Given the description of an element on the screen output the (x, y) to click on. 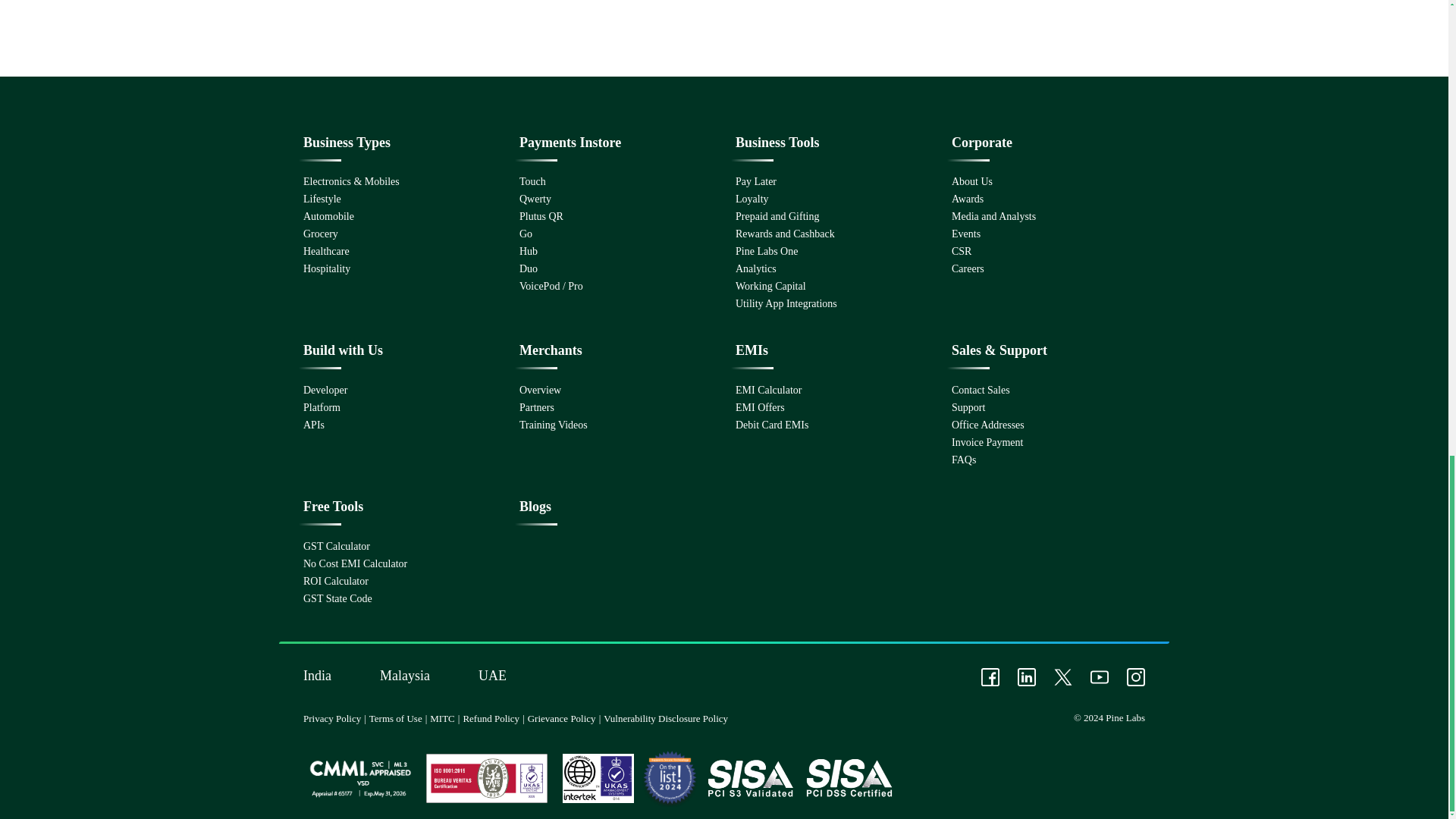
Linkedin (1026, 675)
PCI DSS S3 Certification for Qwerty Payment Solution (849, 778)
Twitter (1062, 675)
youtube (1099, 675)
Best Service Provider Badge SecureTech (670, 778)
instagram (1135, 675)
Payment Card Industry Data Security Standard  (597, 778)
PCI S3 Certification for Qwerty Payment Solution (751, 778)
Facebook (989, 675)
Payment Card Industry Data Security Standard  (486, 778)
